Given the description of an element on the screen output the (x, y) to click on. 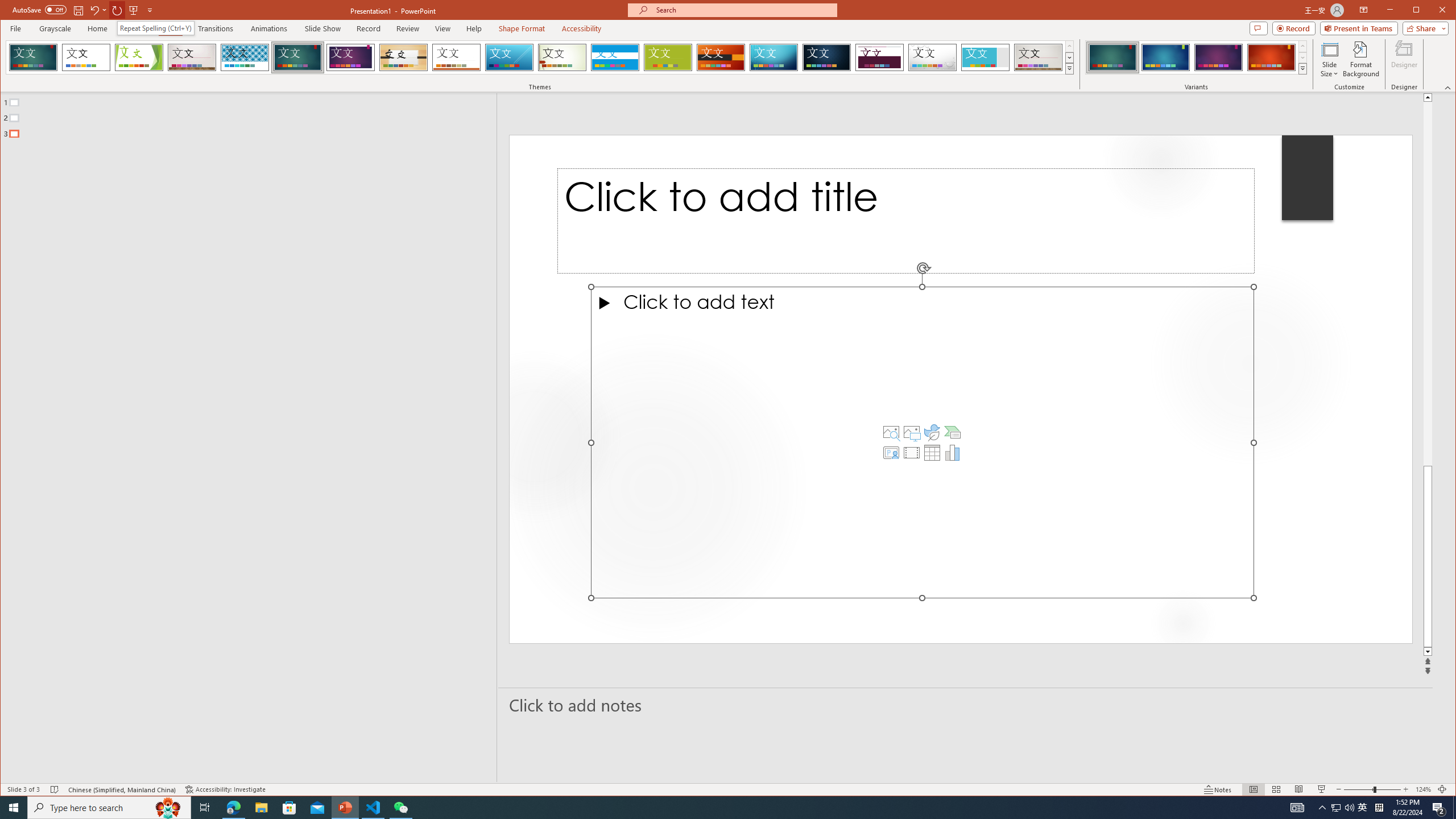
Insert Video (911, 452)
Droplet (932, 57)
Slice (509, 57)
Banded (615, 57)
Damask (826, 57)
